Given the description of an element on the screen output the (x, y) to click on. 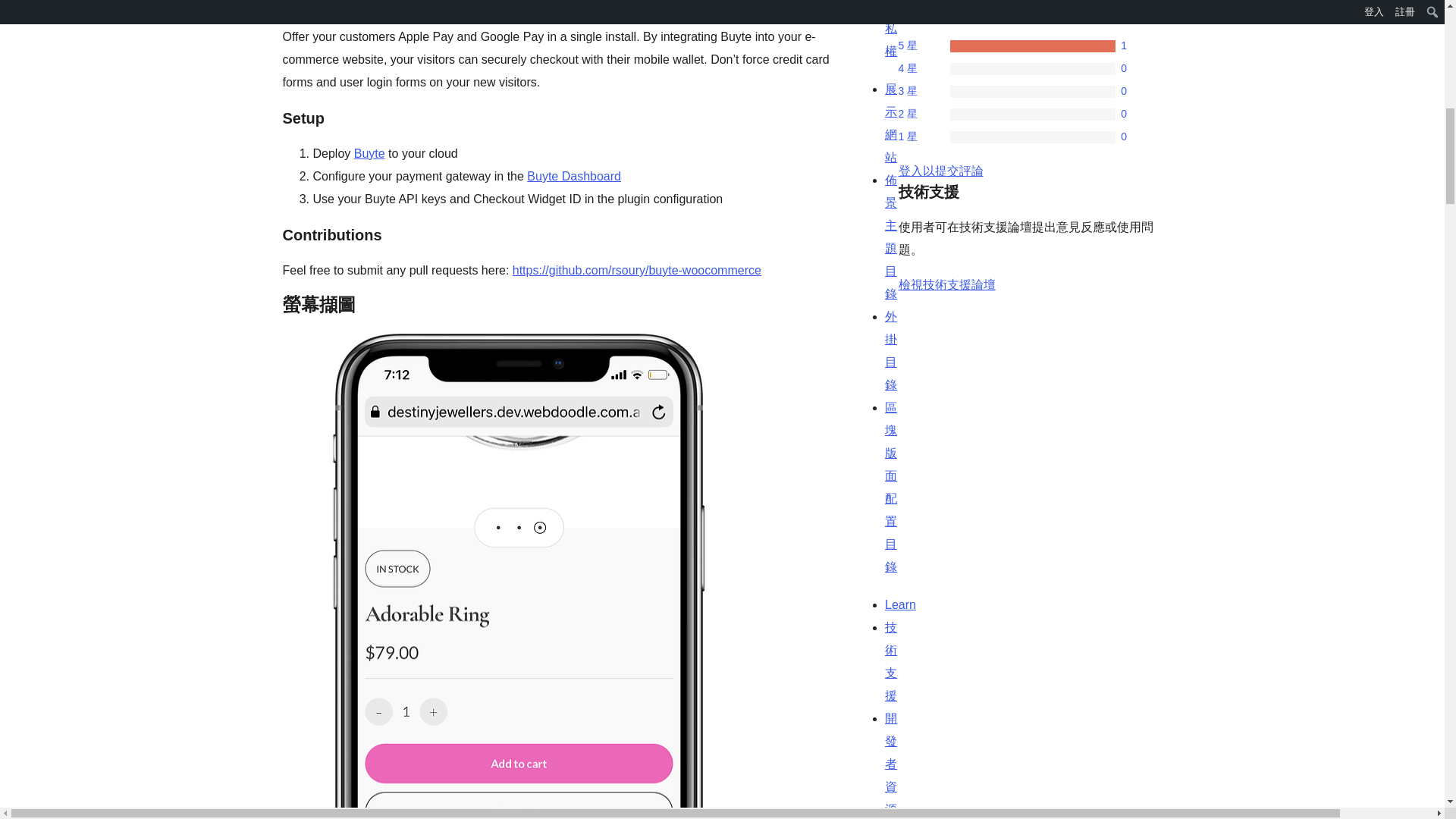
Buyte (369, 153)
Buyte Dashboard (574, 175)
